Given the description of an element on the screen output the (x, y) to click on. 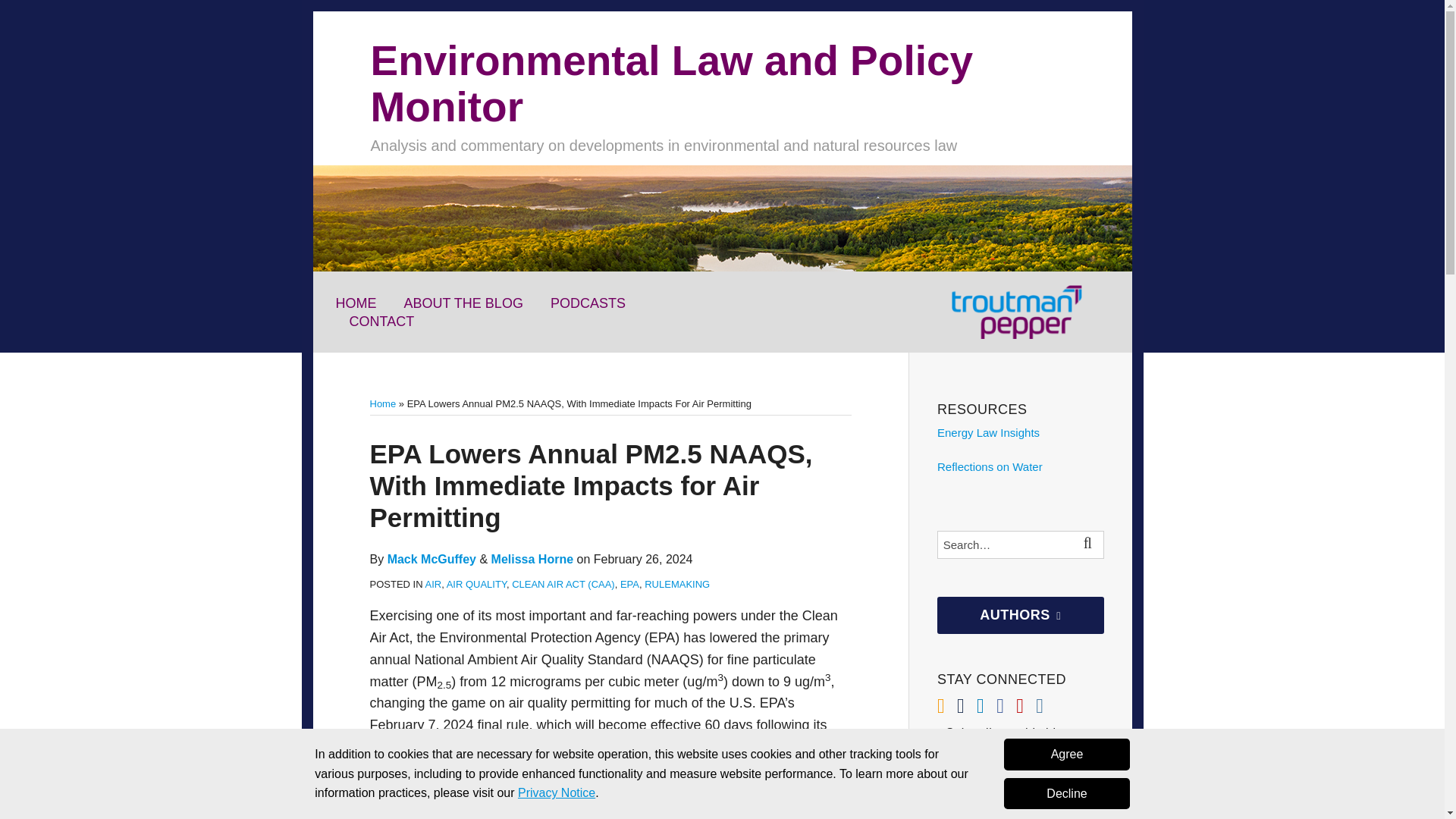
Home (382, 403)
Melissa Horne (532, 558)
CONTACT (381, 321)
Privacy Notice (556, 792)
PODCASTS (588, 303)
Reflections on Water (989, 466)
Decline (1066, 793)
RULEMAKING (677, 583)
Agree (1066, 754)
Mack McGuffey (431, 558)
